Given the description of an element on the screen output the (x, y) to click on. 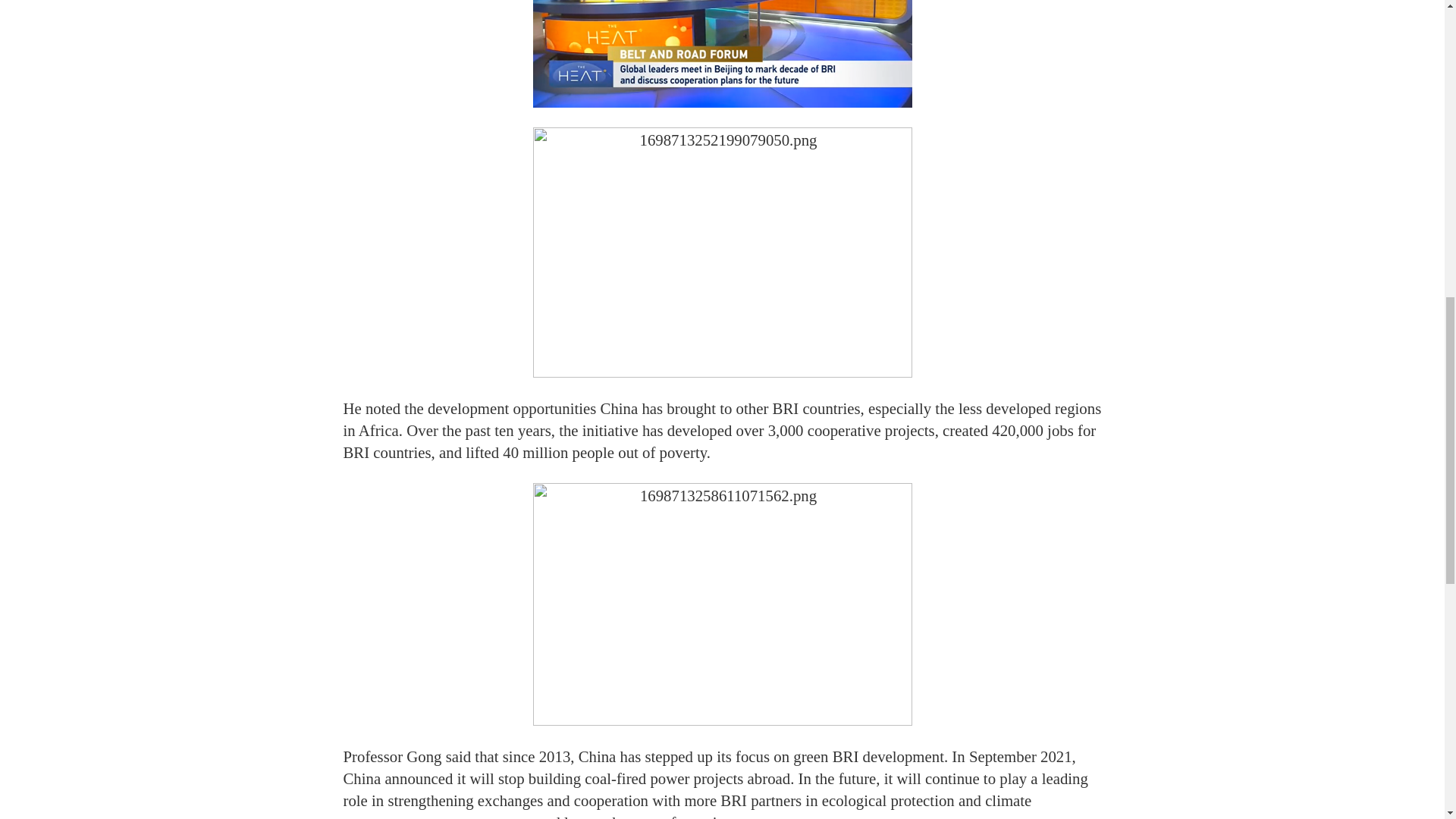
1698713238818075189.png (721, 53)
1698713252199079050.png (721, 252)
1698713258611071562.png (721, 604)
